Given the description of an element on the screen output the (x, y) to click on. 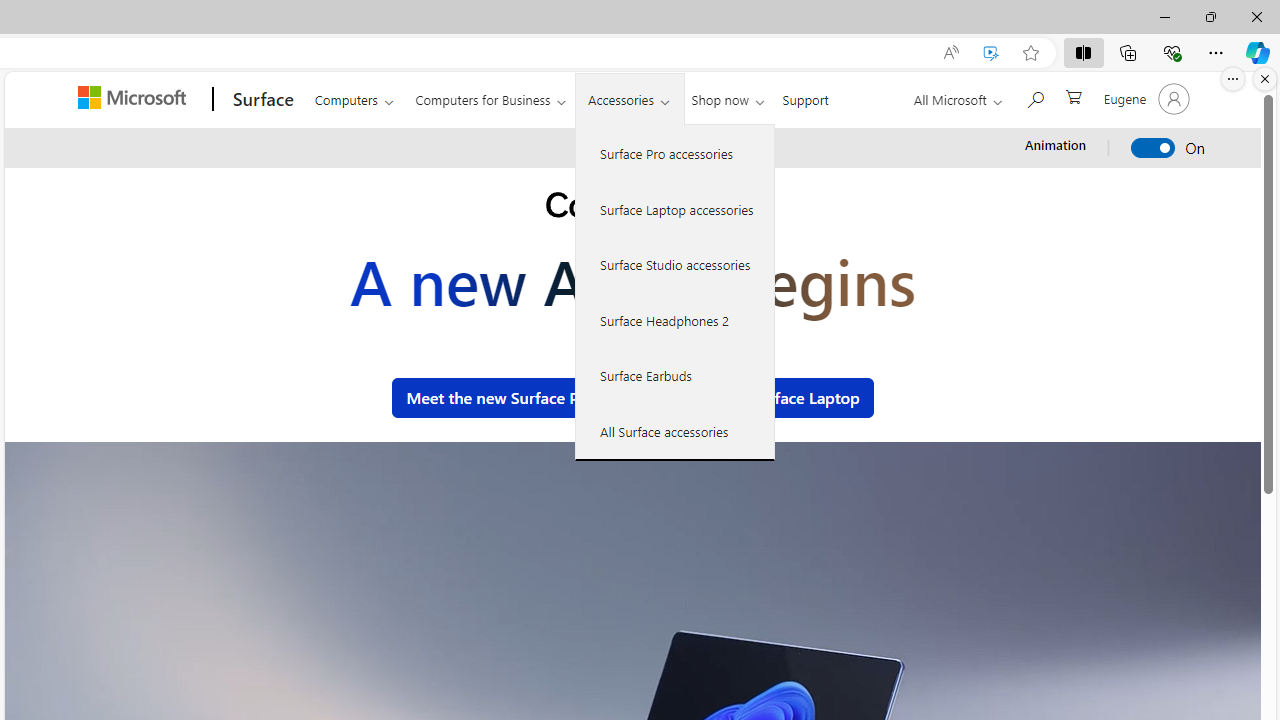
Copilot+ PC. (632, 207)
Surface Laptop accessories (675, 208)
Surface Pro accessories (675, 153)
Support (805, 96)
Surface Headphones 2 (675, 319)
Support (805, 96)
Surface Studio accessories (675, 264)
Search Microsoft.com (1034, 97)
All Surface accessories (675, 431)
Microsoft (135, 99)
Account manager for Eugene (1144, 98)
